Given the description of an element on the screen output the (x, y) to click on. 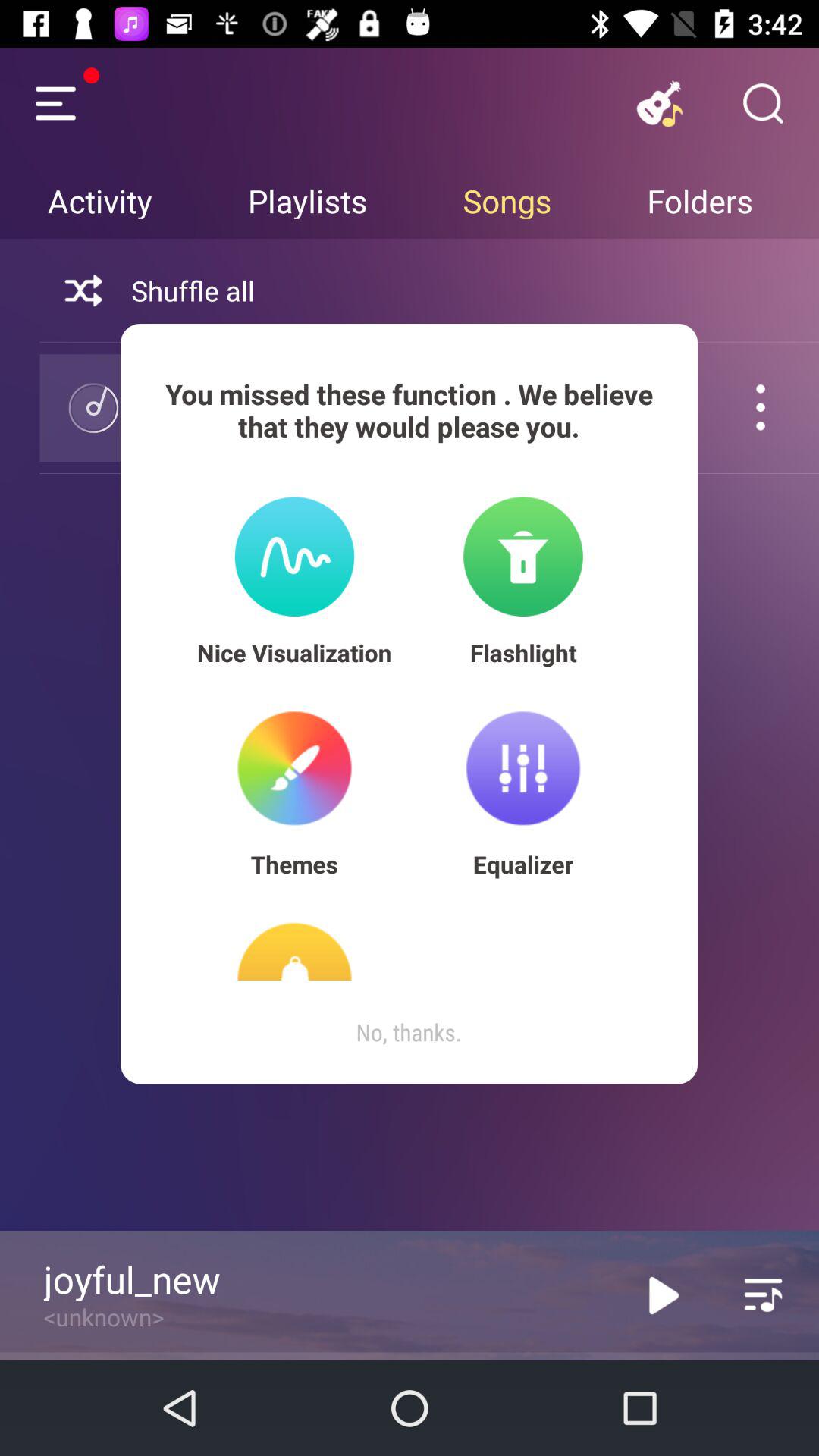
open no, thanks. at the bottom (408, 1032)
